Given the description of an element on the screen output the (x, y) to click on. 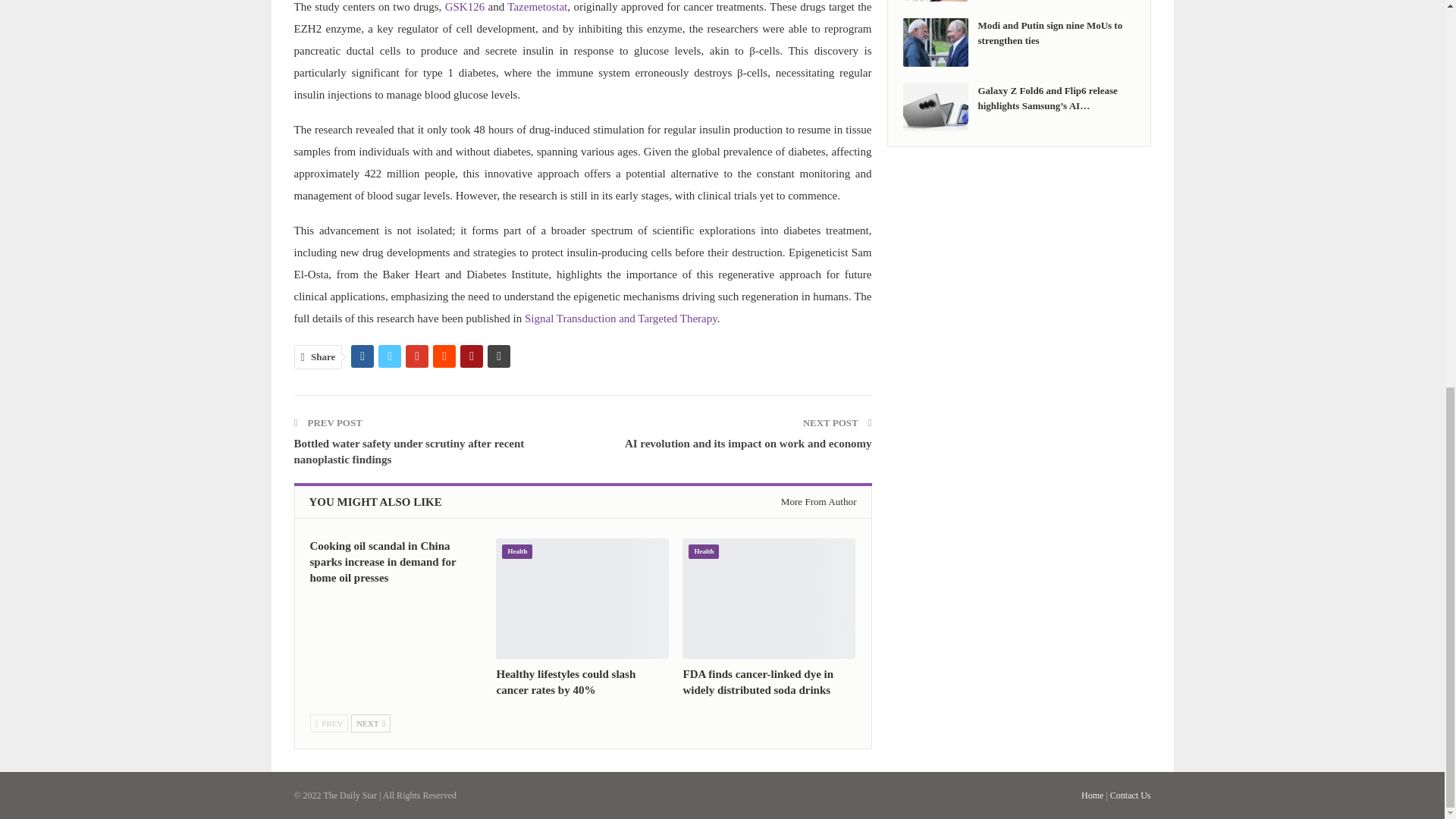
Signal Transduction and Targeted Therapy (620, 318)
Next (370, 723)
Tazemetostat (536, 6)
GSK126 (464, 6)
Previous (327, 723)
